Given the description of an element on the screen output the (x, y) to click on. 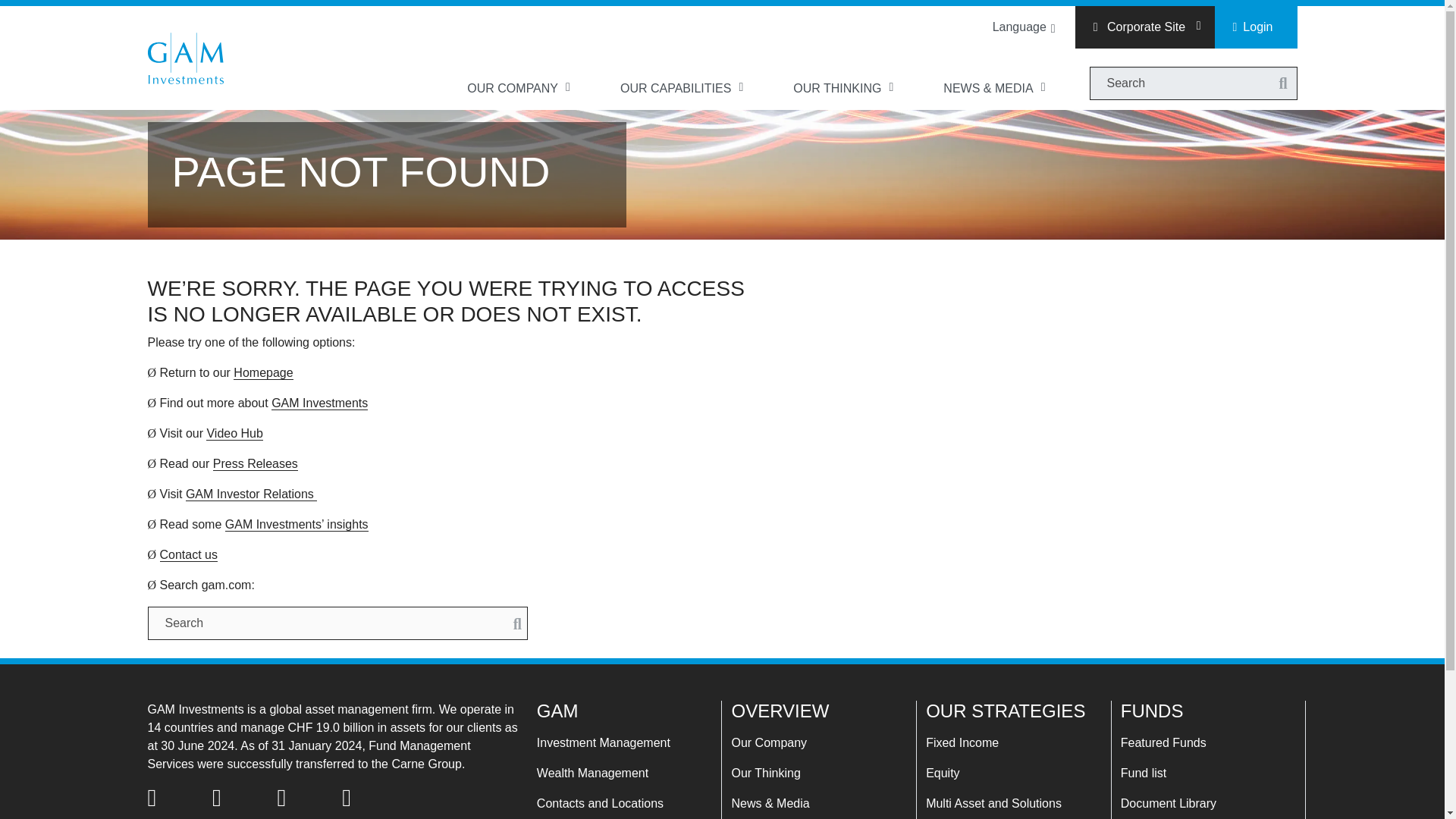
Twitter (170, 798)
RSS (235, 798)
Search Button (1282, 82)
Gam.com (184, 58)
Youtube (365, 798)
OUR COMPANY (519, 87)
Language (1022, 26)
GAM.com (184, 58)
OUR THINKING (844, 87)
OUR CAPABILITIES (682, 87)
